Given the description of an element on the screen output the (x, y) to click on. 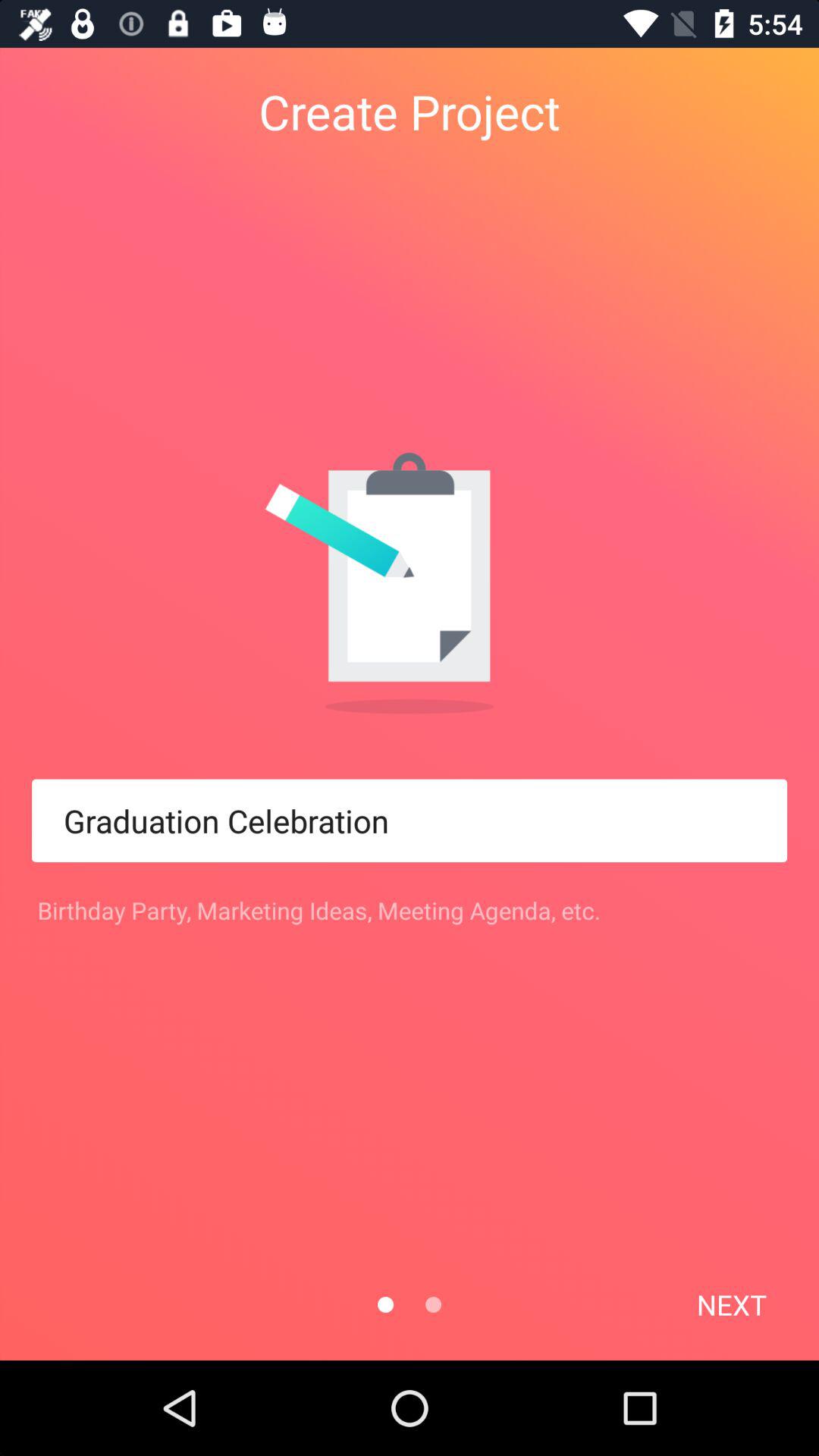
launch the next icon (731, 1304)
